Given the description of an element on the screen output the (x, y) to click on. 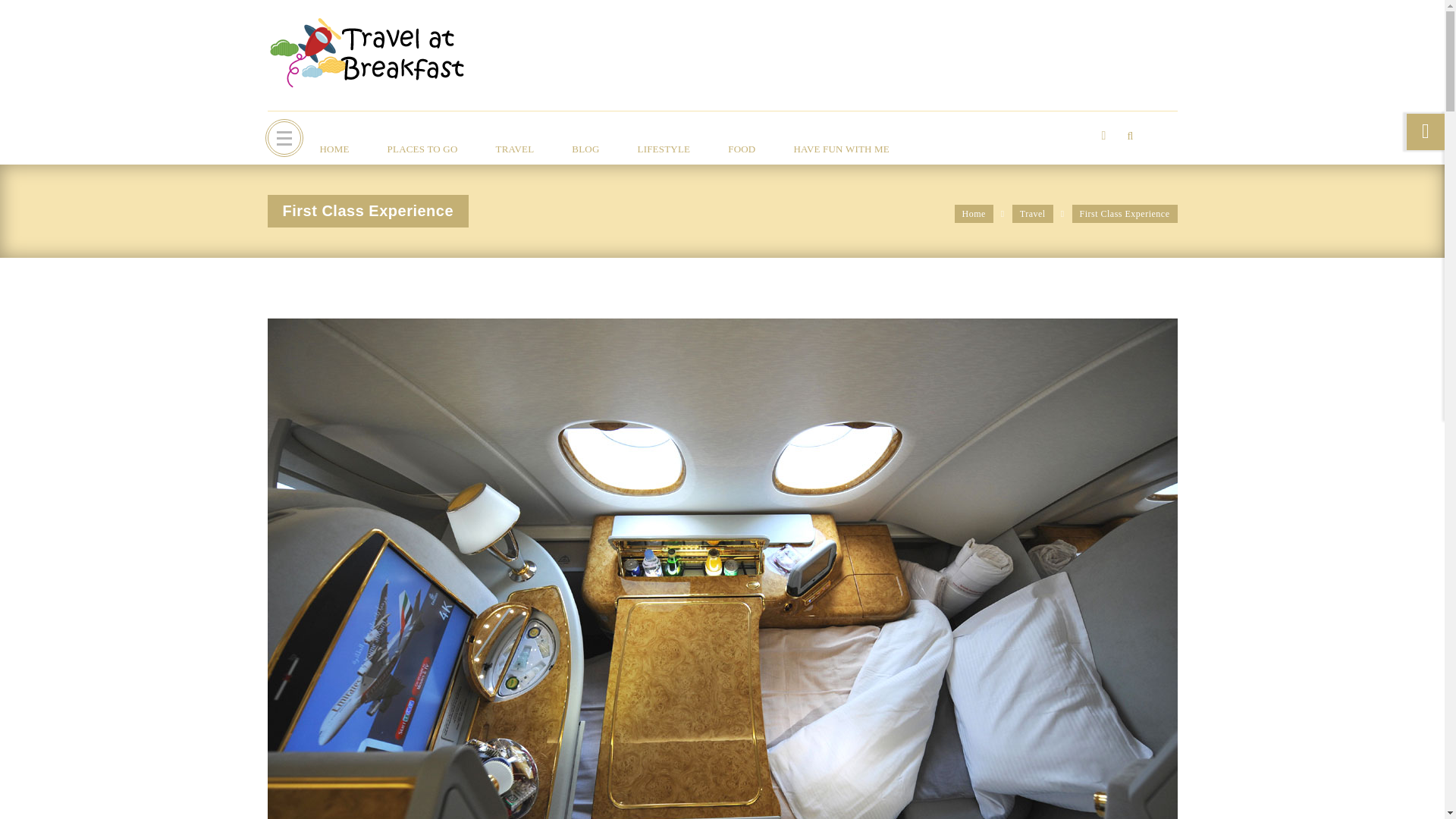
TRAVEL (515, 149)
PLACES TO GO (422, 149)
HOME (333, 149)
